Given the description of an element on the screen output the (x, y) to click on. 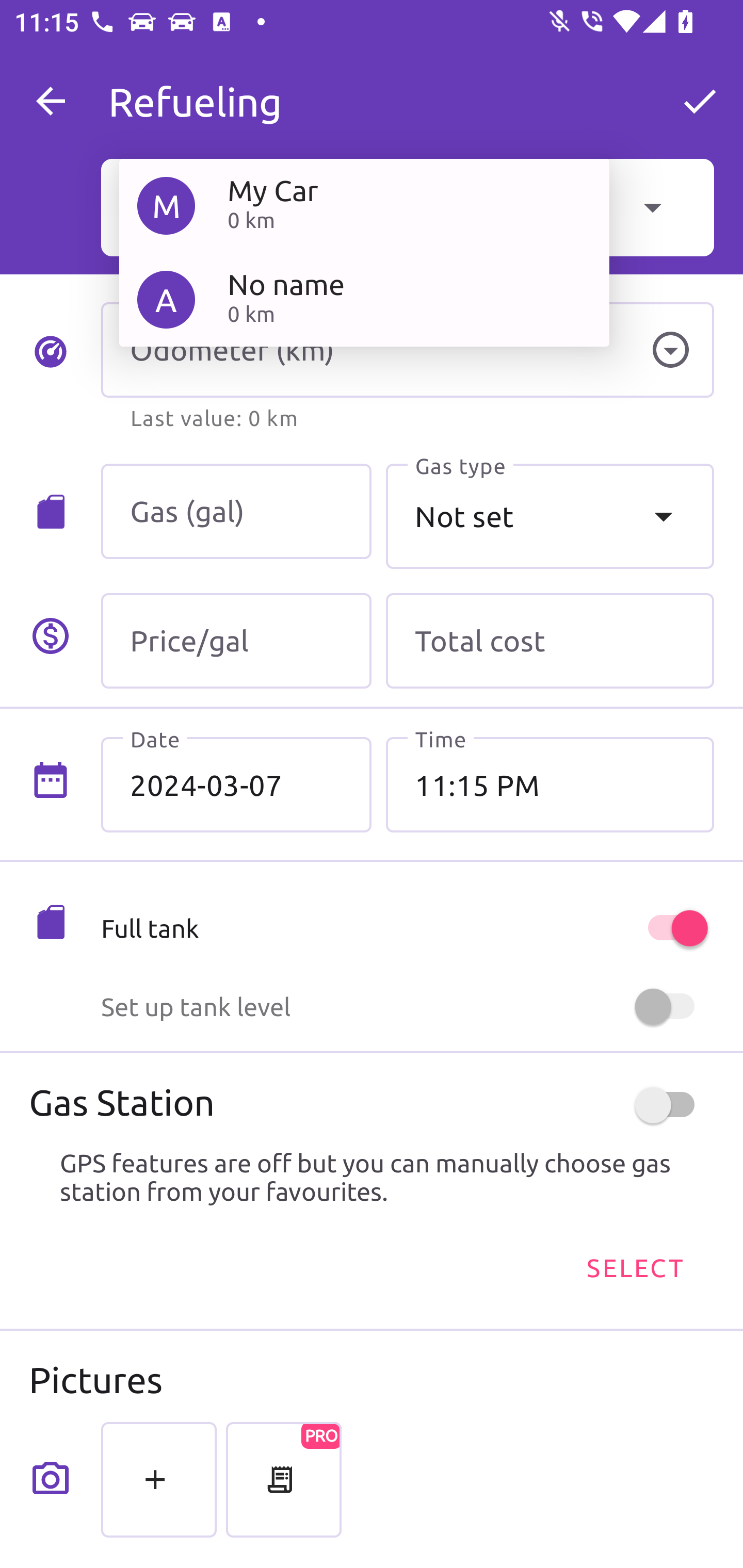
M My Car 0 km (363, 205)
A No name 0 km (363, 299)
